Given the description of an element on the screen output the (x, y) to click on. 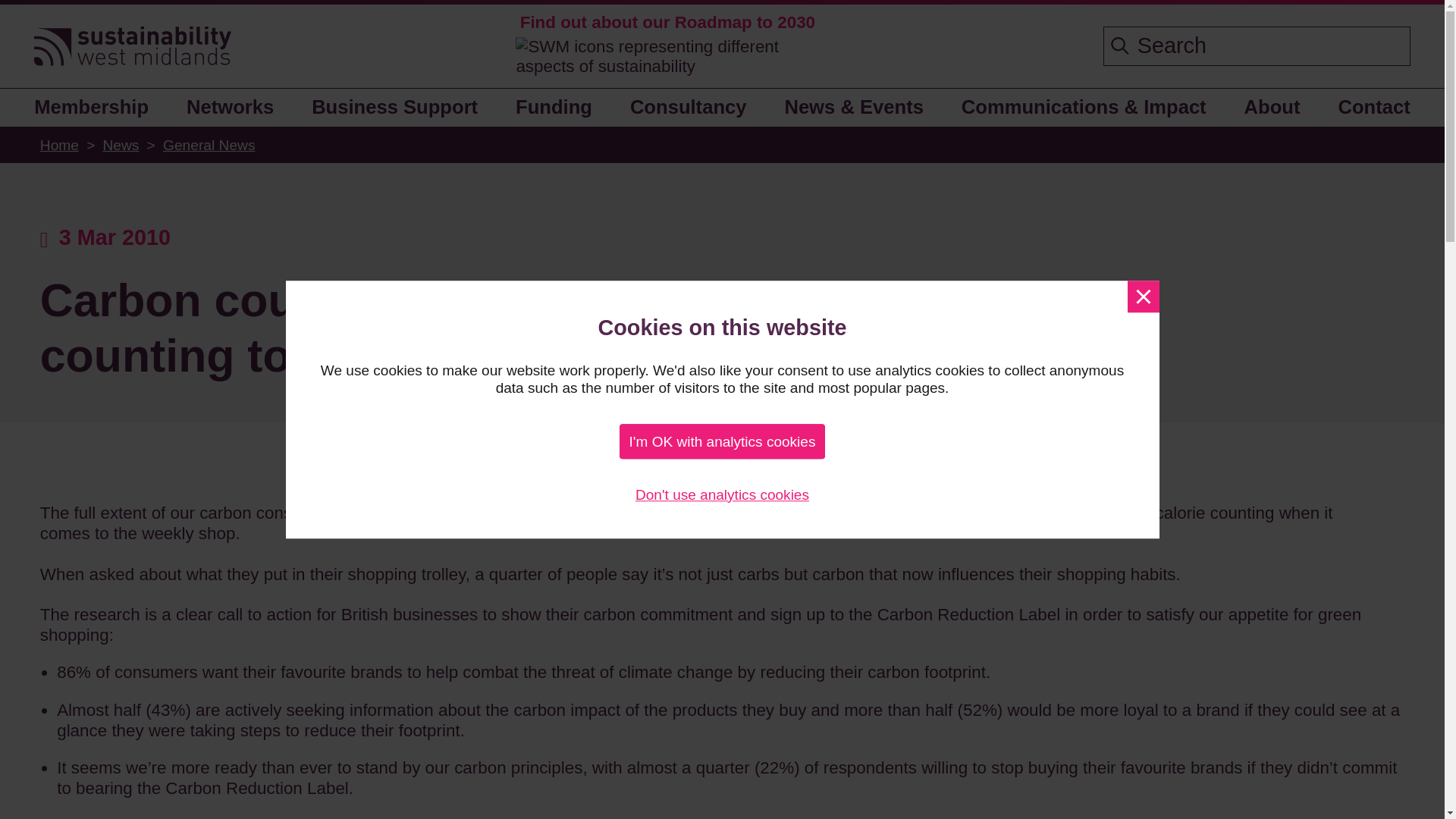
Don't use analytics cookies (721, 494)
I'm OK with analytics cookies (722, 441)
Networks (230, 107)
Membership (96, 107)
Business Support (394, 107)
Funding (554, 107)
Go to the Sustainability West Midlands home page (132, 47)
About (1272, 107)
Dismiss message (1142, 296)
Consultancy (687, 107)
